Given the description of an element on the screen output the (x, y) to click on. 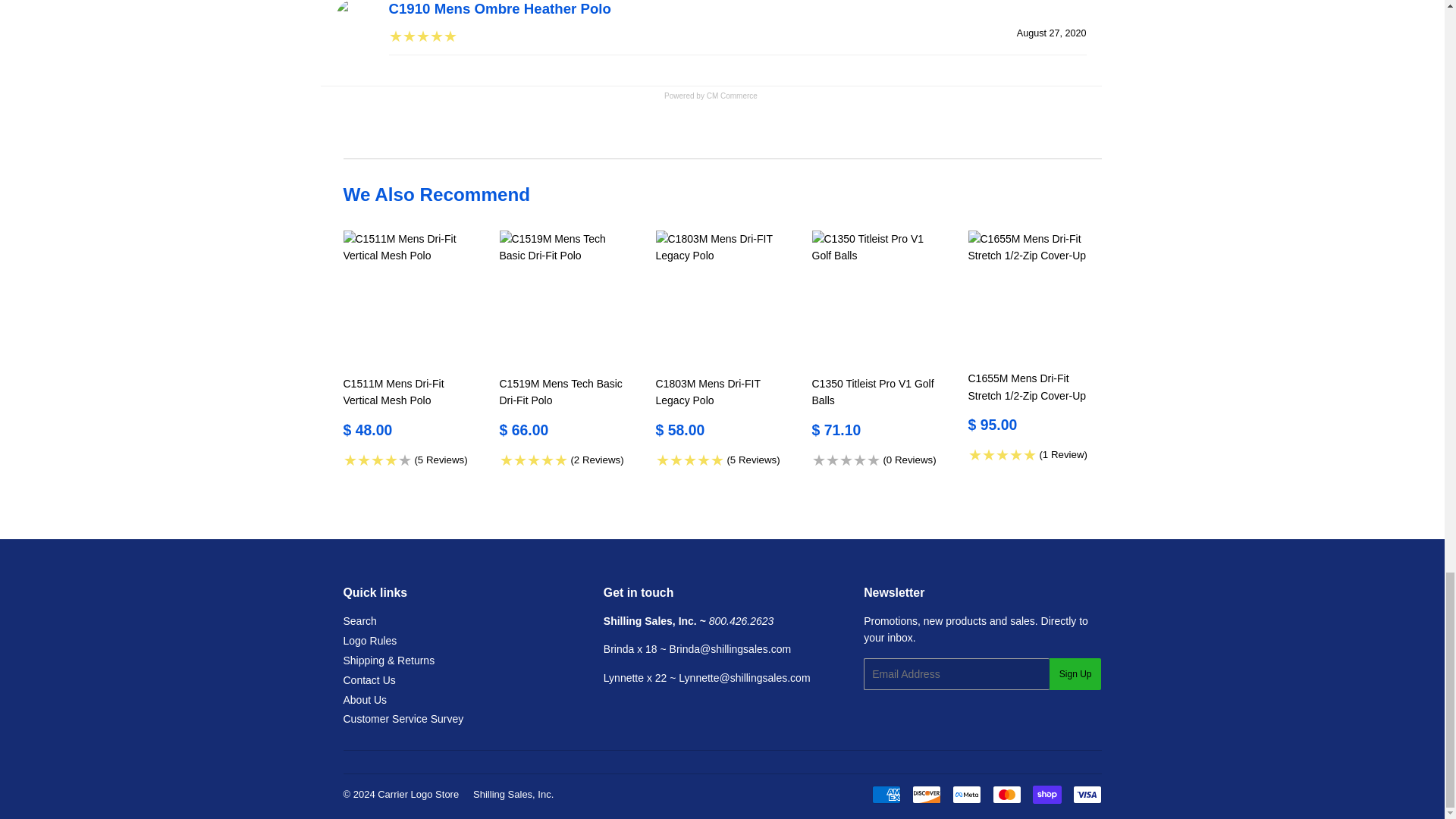
Shop Pay (1046, 794)
Meta Pay (966, 794)
American Express (886, 794)
Mastercard (1005, 794)
Visa (1085, 794)
Discover (925, 794)
